Given the description of an element on the screen output the (x, y) to click on. 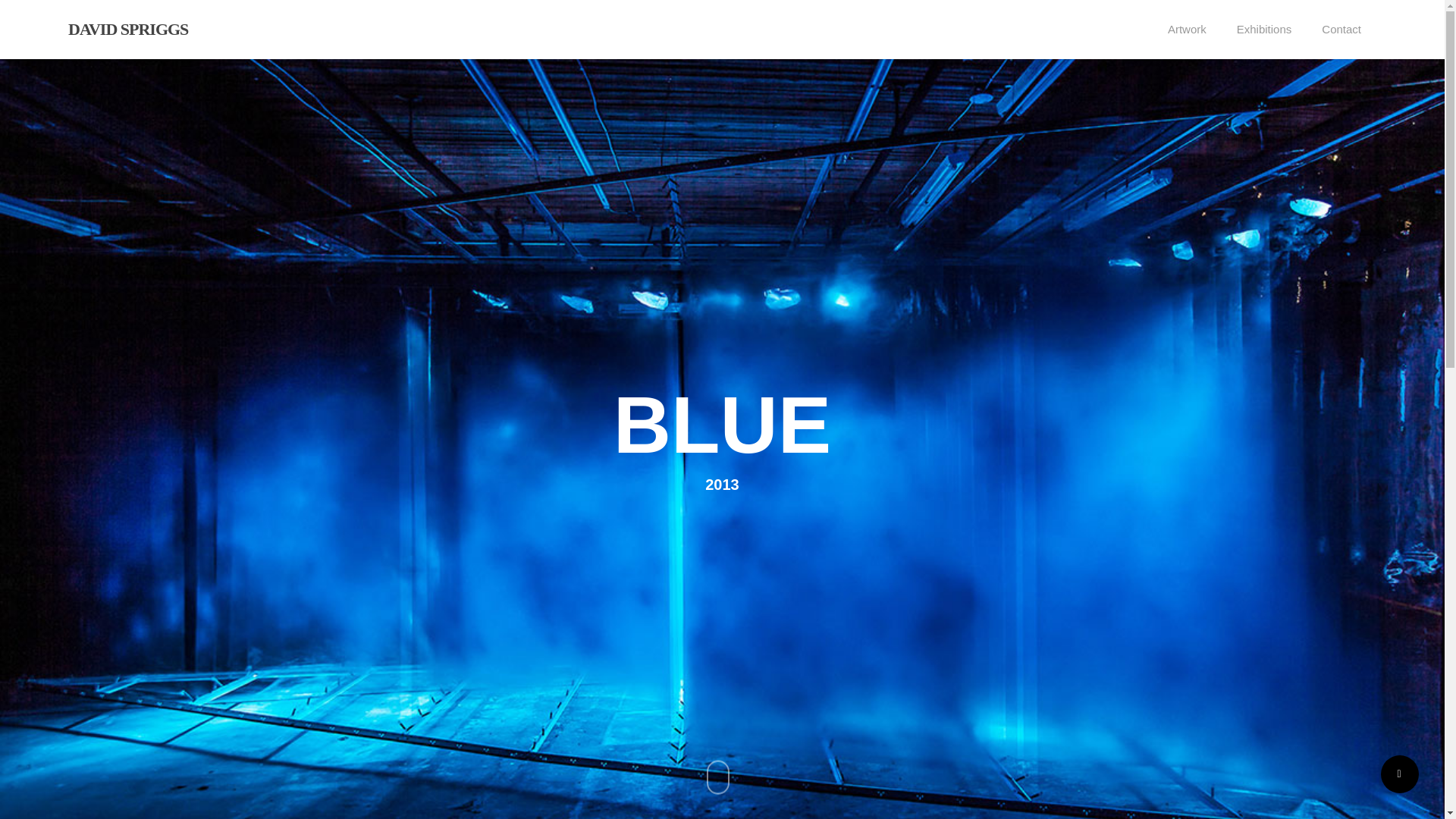
Artwork (1187, 29)
Exhibitions (1264, 29)
DAVID SPRIGGS (127, 29)
Contact (1340, 29)
